Given the description of an element on the screen output the (x, y) to click on. 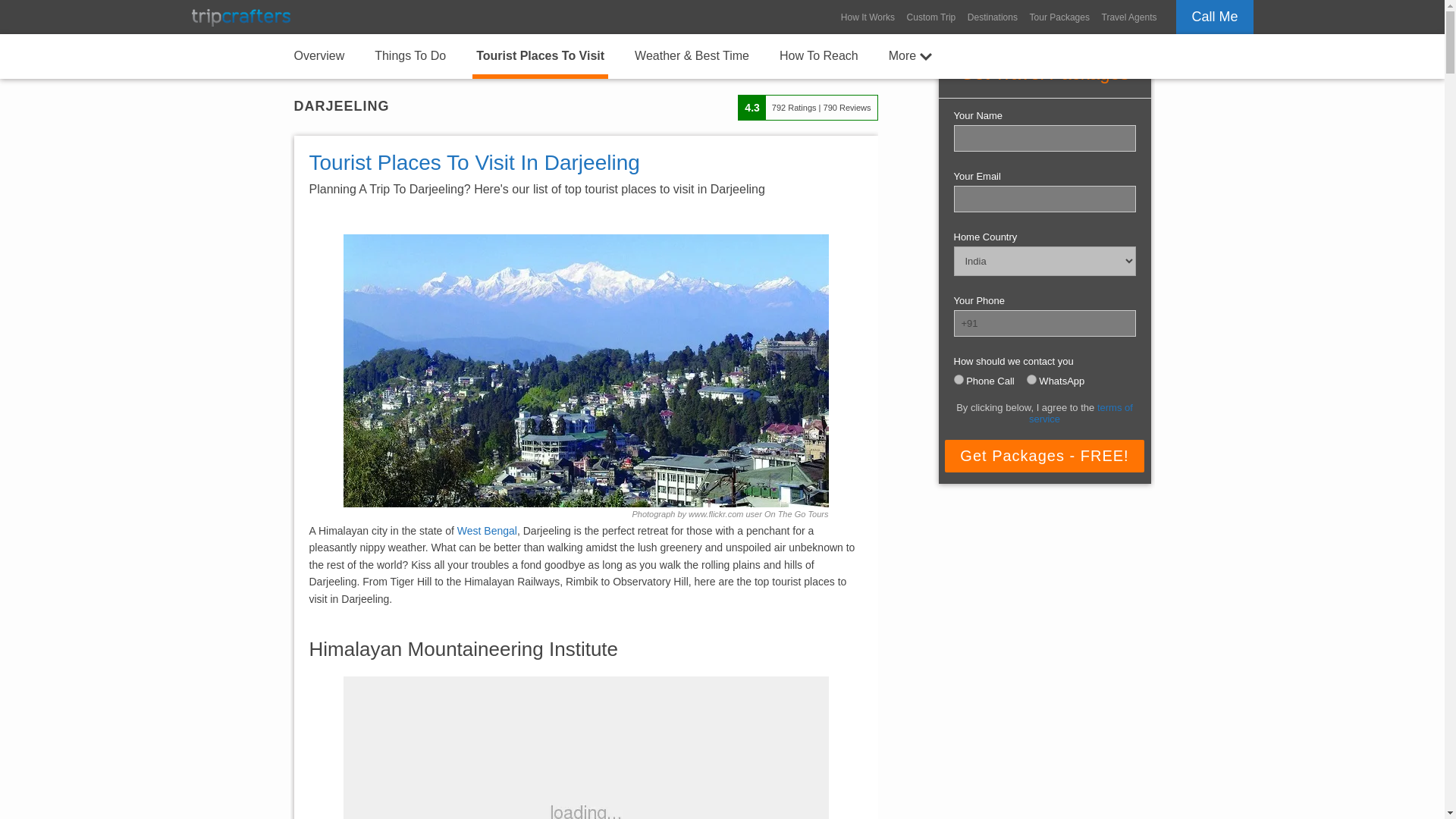
Overview (318, 54)
How To Reach Darjeeling (818, 54)
How It Works (867, 17)
Tour Packages (1059, 17)
Get Packages - FREE! (1043, 455)
Call Me (1214, 17)
WhatsApp (1031, 379)
Things To Do In Darjeeling (410, 54)
TripCrafters.com (239, 17)
More (910, 54)
